Given the description of an element on the screen output the (x, y) to click on. 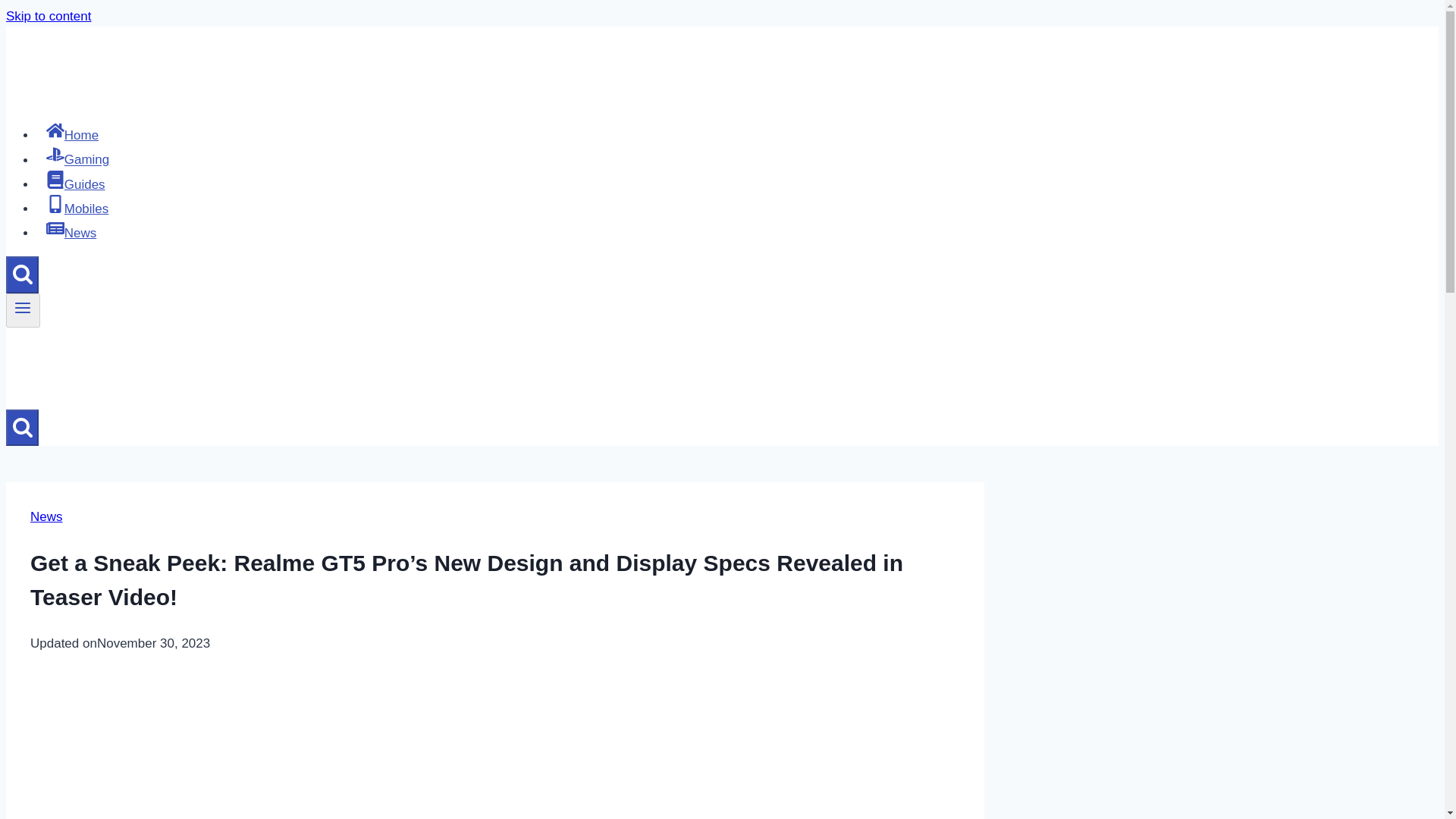
Toggle Menu (22, 310)
News (71, 233)
Search (22, 427)
Search (22, 273)
Toggle Menu (22, 307)
Search (22, 426)
News (46, 516)
Skip to content (47, 16)
Skip to content (47, 16)
Mobiles (76, 208)
Home (71, 134)
Gaming (77, 159)
Guides (75, 184)
Search (22, 274)
